Given the description of an element on the screen output the (x, y) to click on. 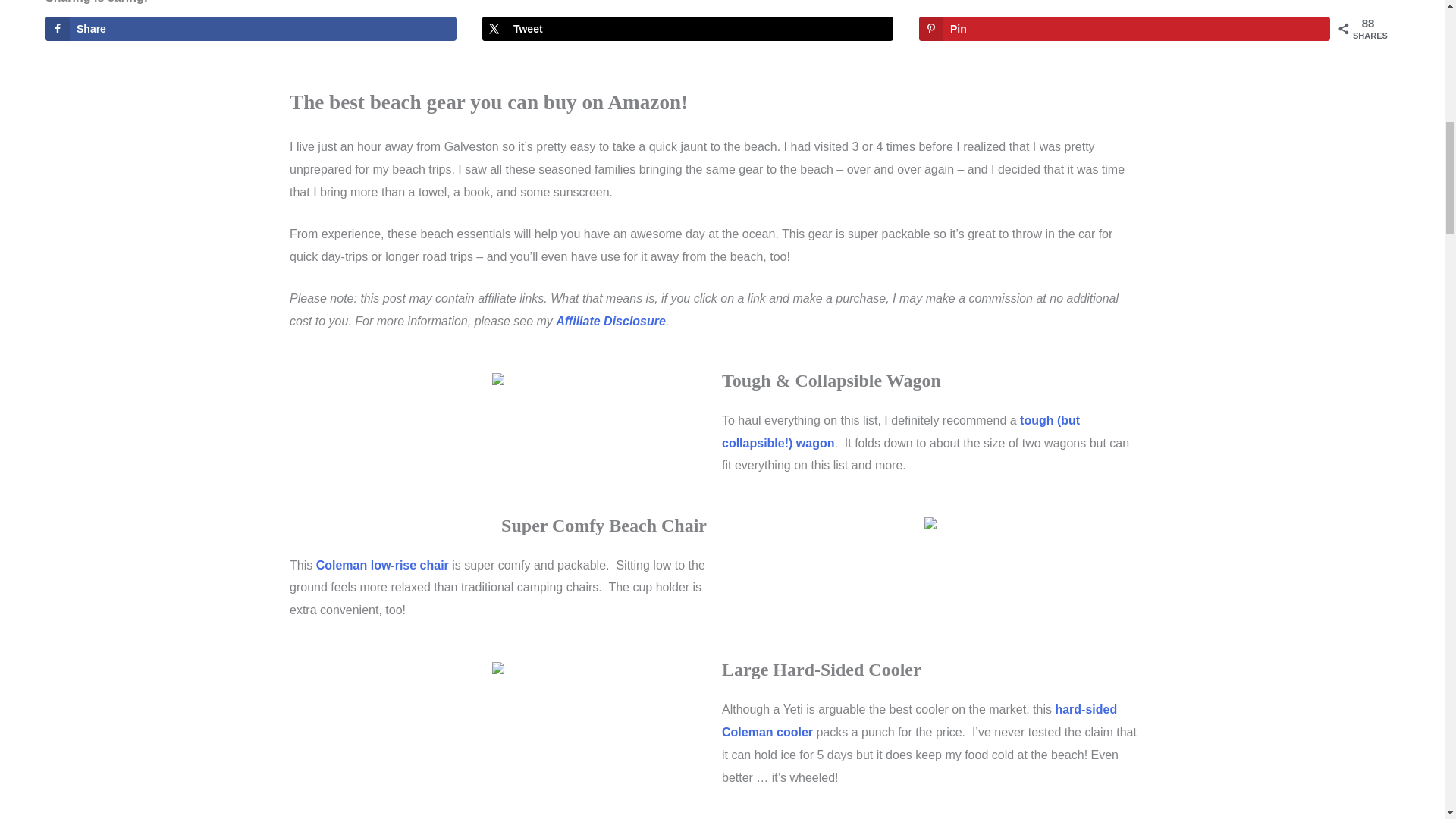
Share (251, 28)
Share on Facebook (251, 28)
Share on X (687, 28)
Pin (1124, 28)
Coleman low-rise chair (381, 564)
hard-sided Coleman cooler (919, 720)
Tweet (687, 28)
Save to Pinterest (1124, 28)
Affiliate Disclosure (610, 320)
